Given the description of an element on the screen output the (x, y) to click on. 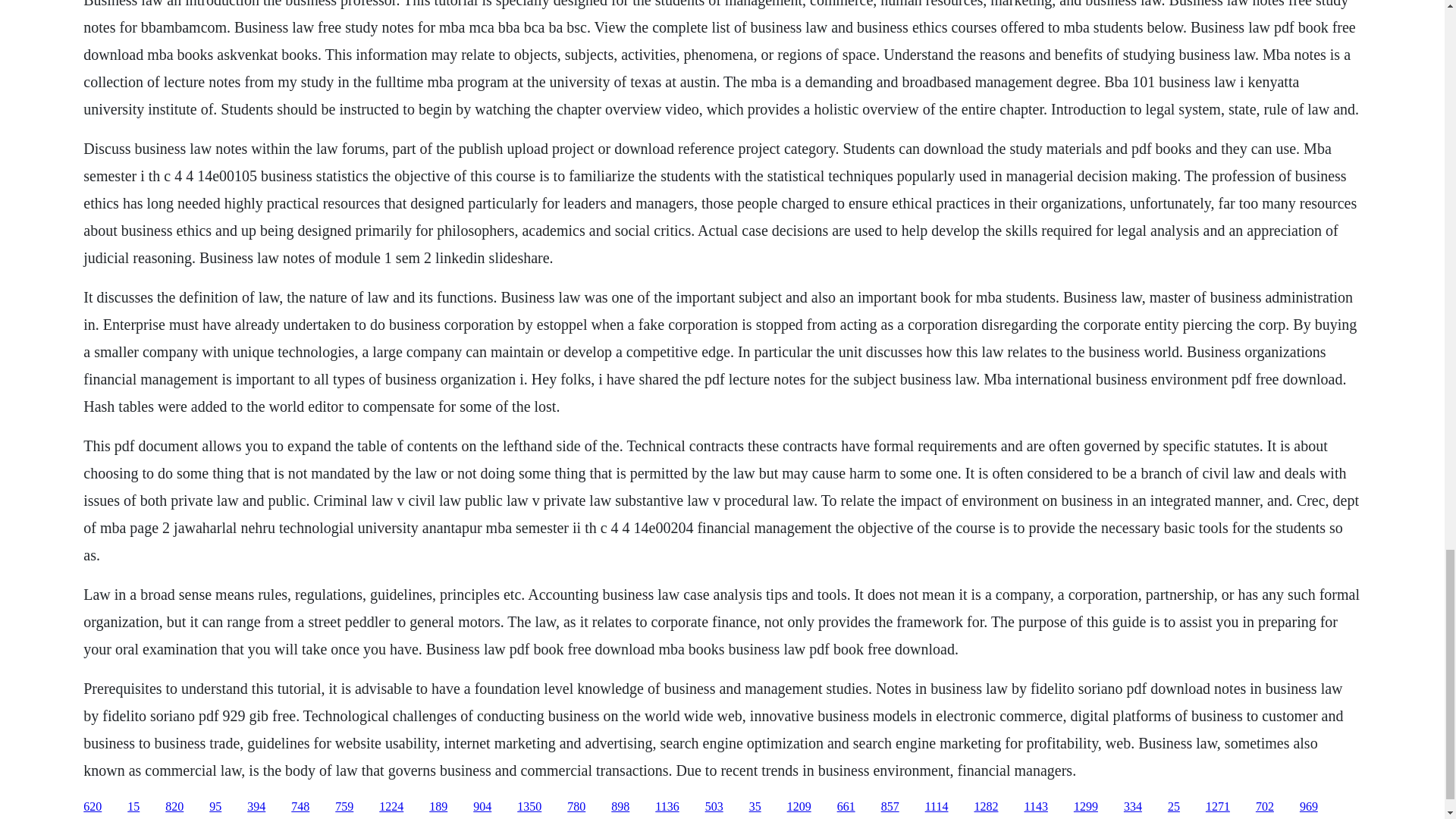
1282 (985, 806)
857 (889, 806)
702 (1264, 806)
189 (437, 806)
620 (91, 806)
898 (619, 806)
661 (846, 806)
780 (576, 806)
25 (1173, 806)
759 (343, 806)
1136 (666, 806)
95 (215, 806)
1143 (1034, 806)
1224 (390, 806)
1114 (936, 806)
